Given the description of an element on the screen output the (x, y) to click on. 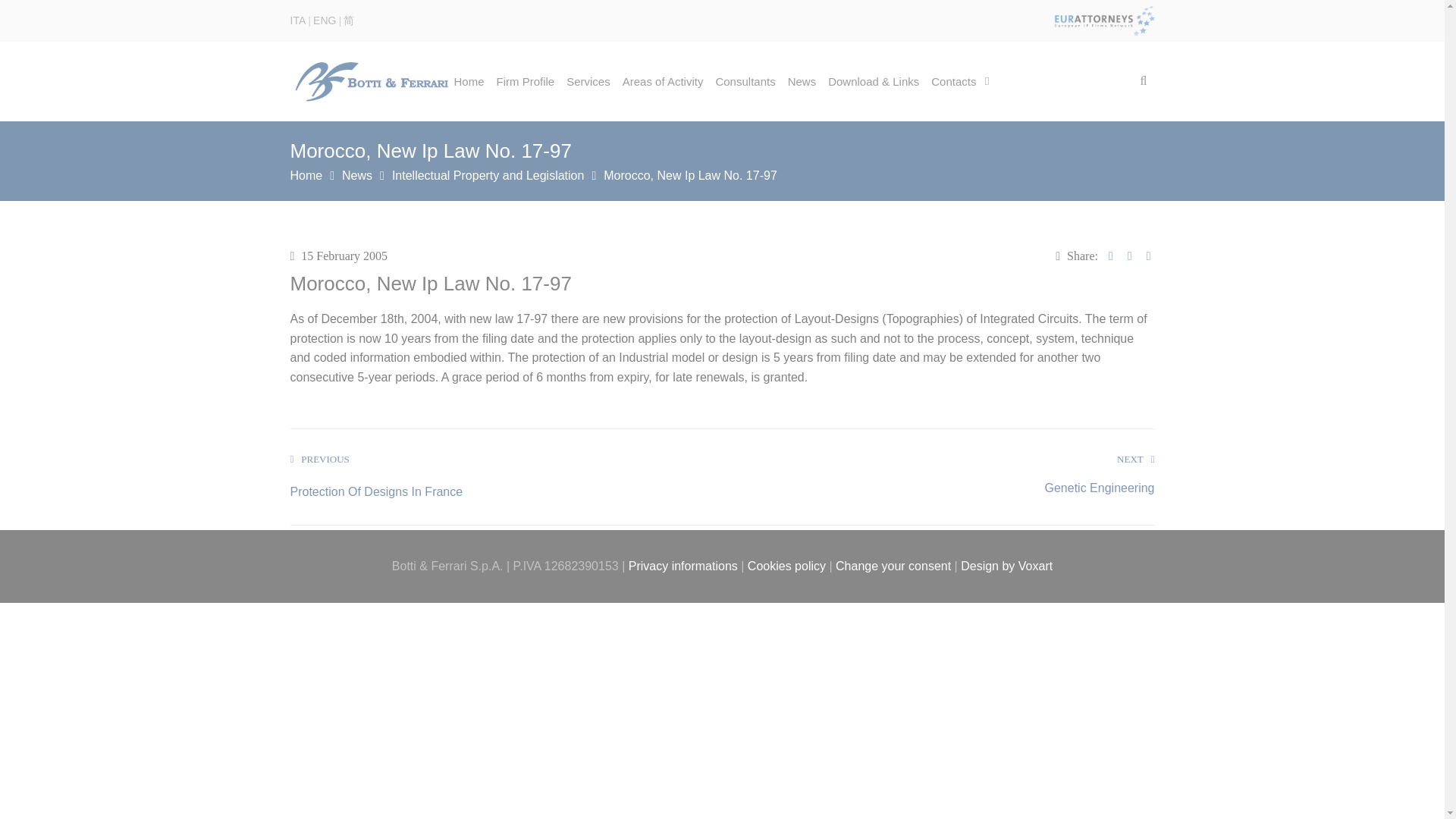
News (363, 174)
ITA (297, 20)
Home (311, 174)
Cookies policy (786, 565)
Design by Voxart (1006, 565)
ENG (324, 20)
Areas of Activity (663, 81)
Intellectual Property and Legislation (493, 174)
Privacy informations (683, 565)
Change your consent (892, 565)
